Given the description of an element on the screen output the (x, y) to click on. 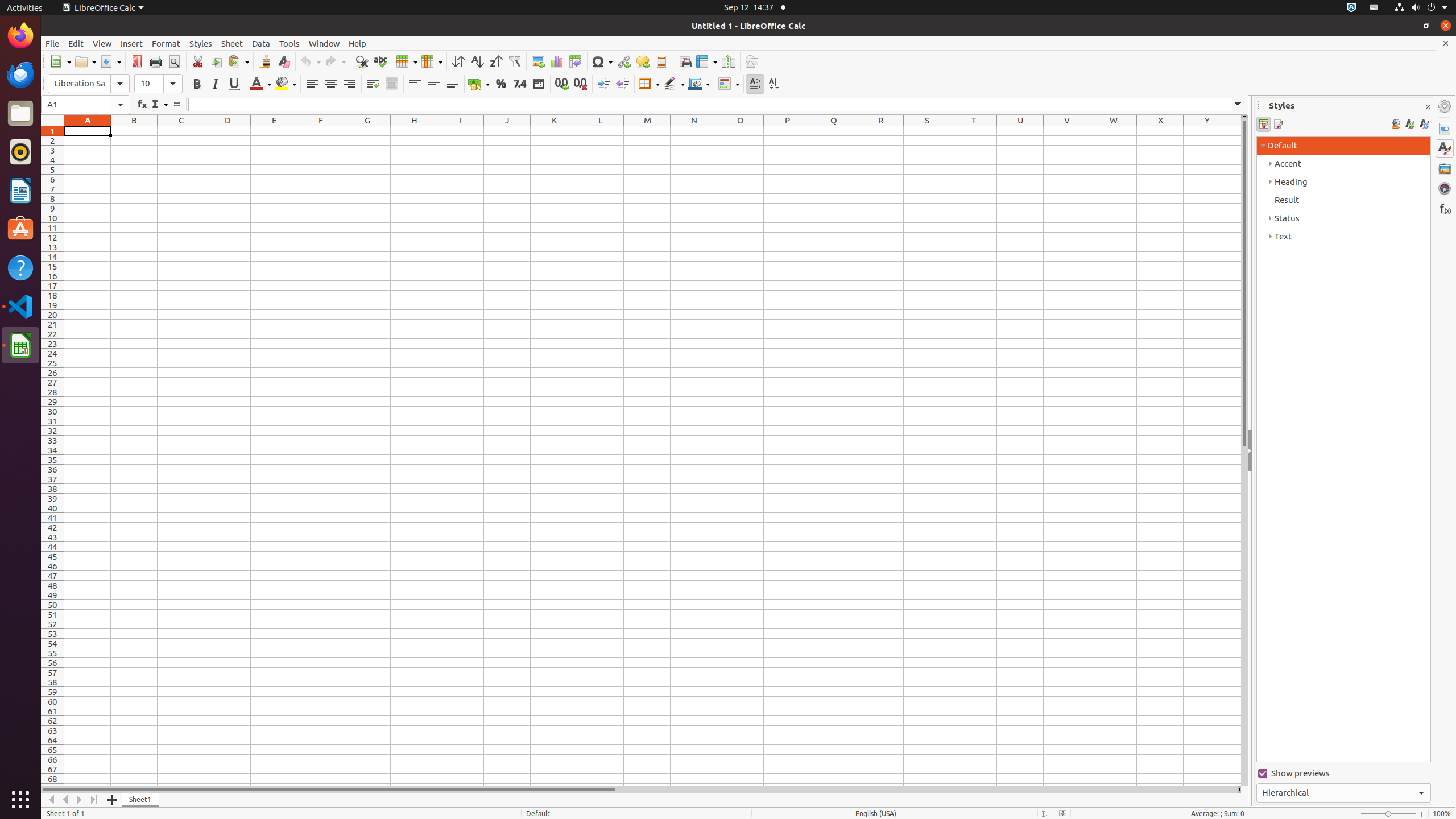
Paste Element type: push-button (237, 61)
Text direction from left to right Element type: toggle-button (754, 83)
Formula Element type: push-button (176, 104)
Percent Element type: push-button (500, 83)
Row Element type: push-button (406, 61)
